Given the description of an element on the screen output the (x, y) to click on. 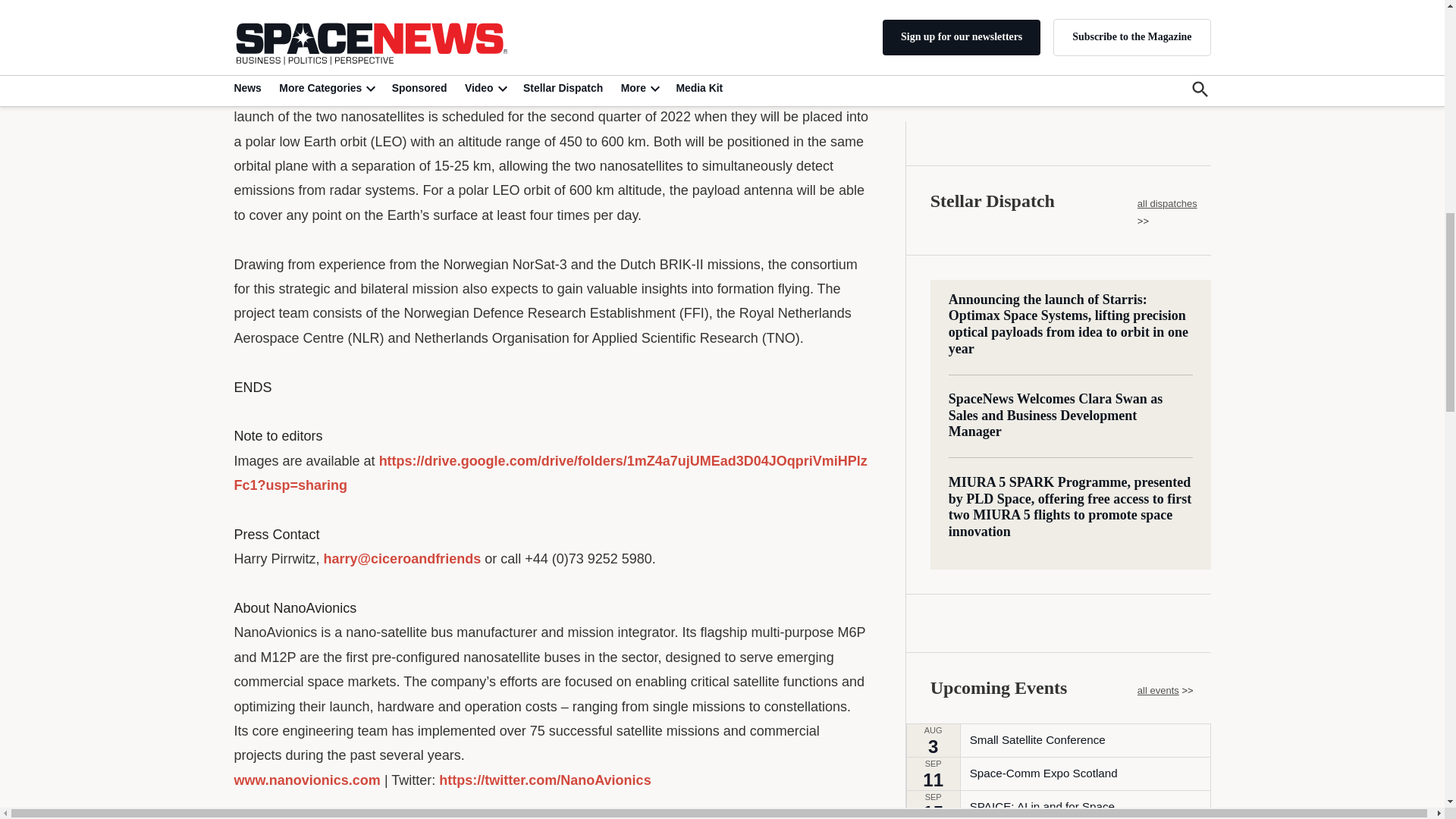
Small Satellite Conference (1037, 164)
